Given the description of an element on the screen output the (x, y) to click on. 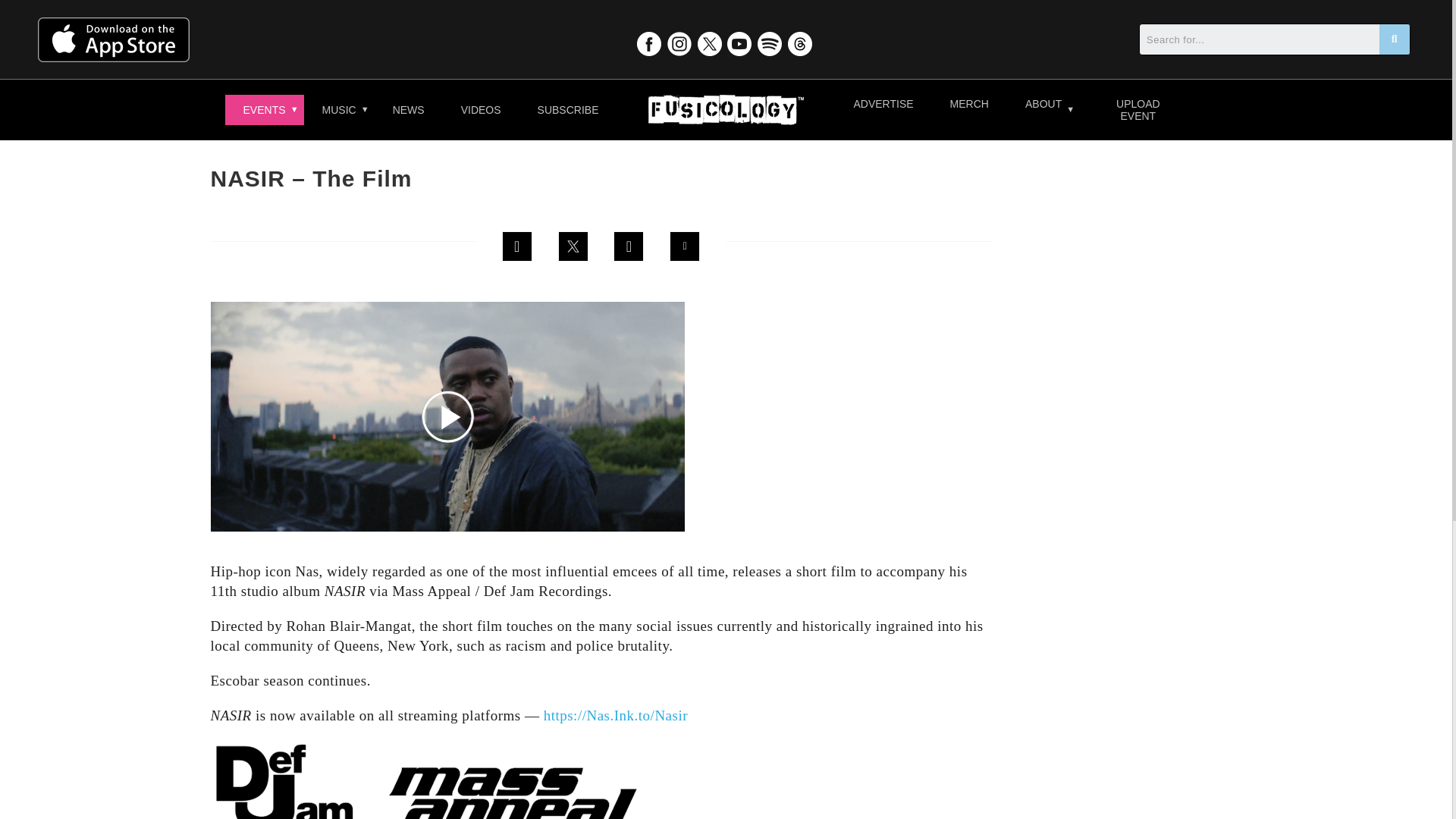
Click to share this post on Linkedin (627, 245)
Click to share this post on Twitter (572, 245)
Click to share this post via Email (684, 245)
Click to share this post on Facebook (517, 245)
